Given the description of an element on the screen output the (x, y) to click on. 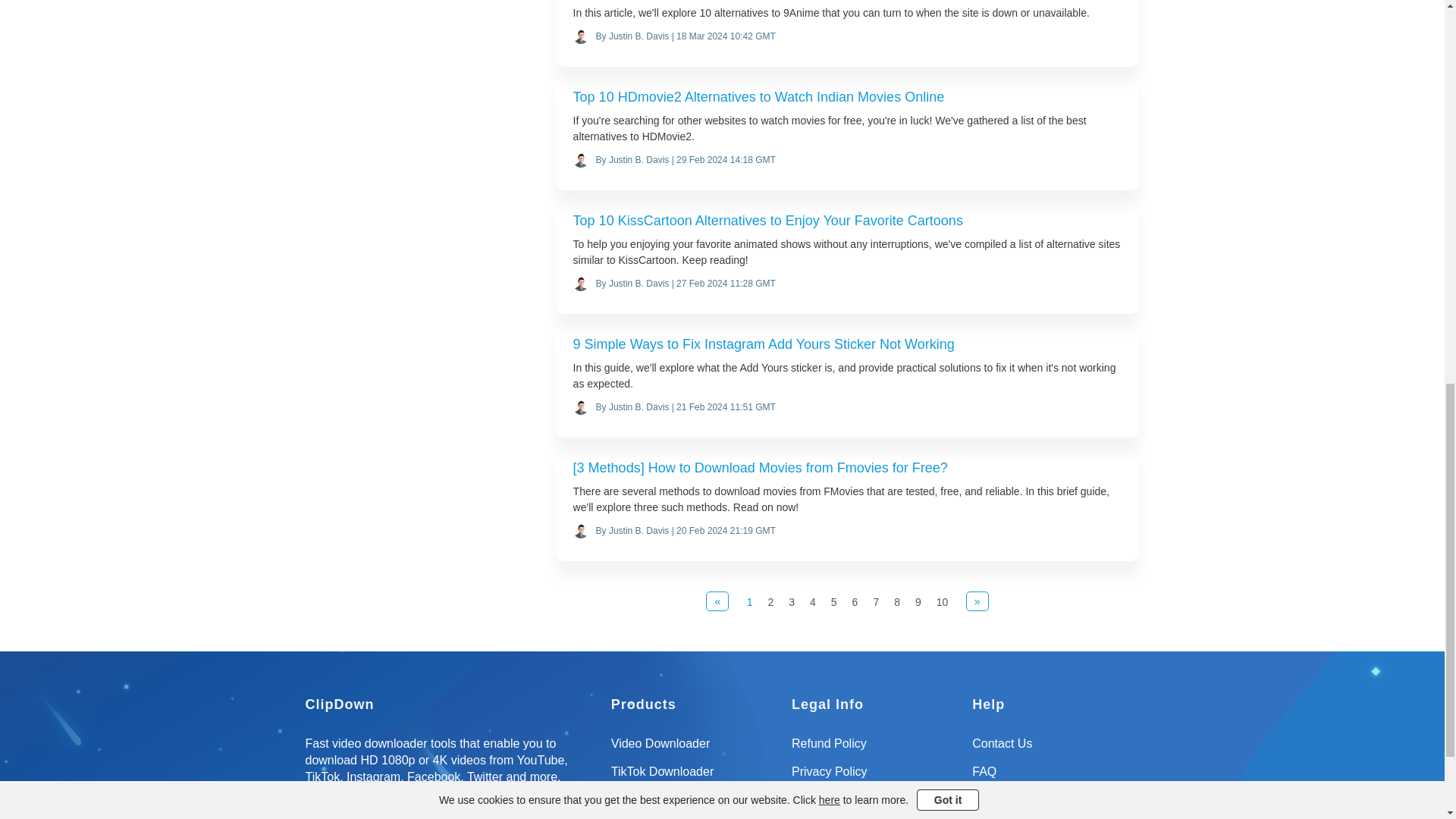
Blog (1055, 805)
Privacy Policy (875, 777)
FAQ (1055, 777)
Contact Us (1055, 749)
TikTok Downloader (694, 777)
License Agreement (875, 805)
Refund Policy (875, 749)
Video Downloader (694, 749)
10 (942, 602)
